Given the description of an element on the screen output the (x, y) to click on. 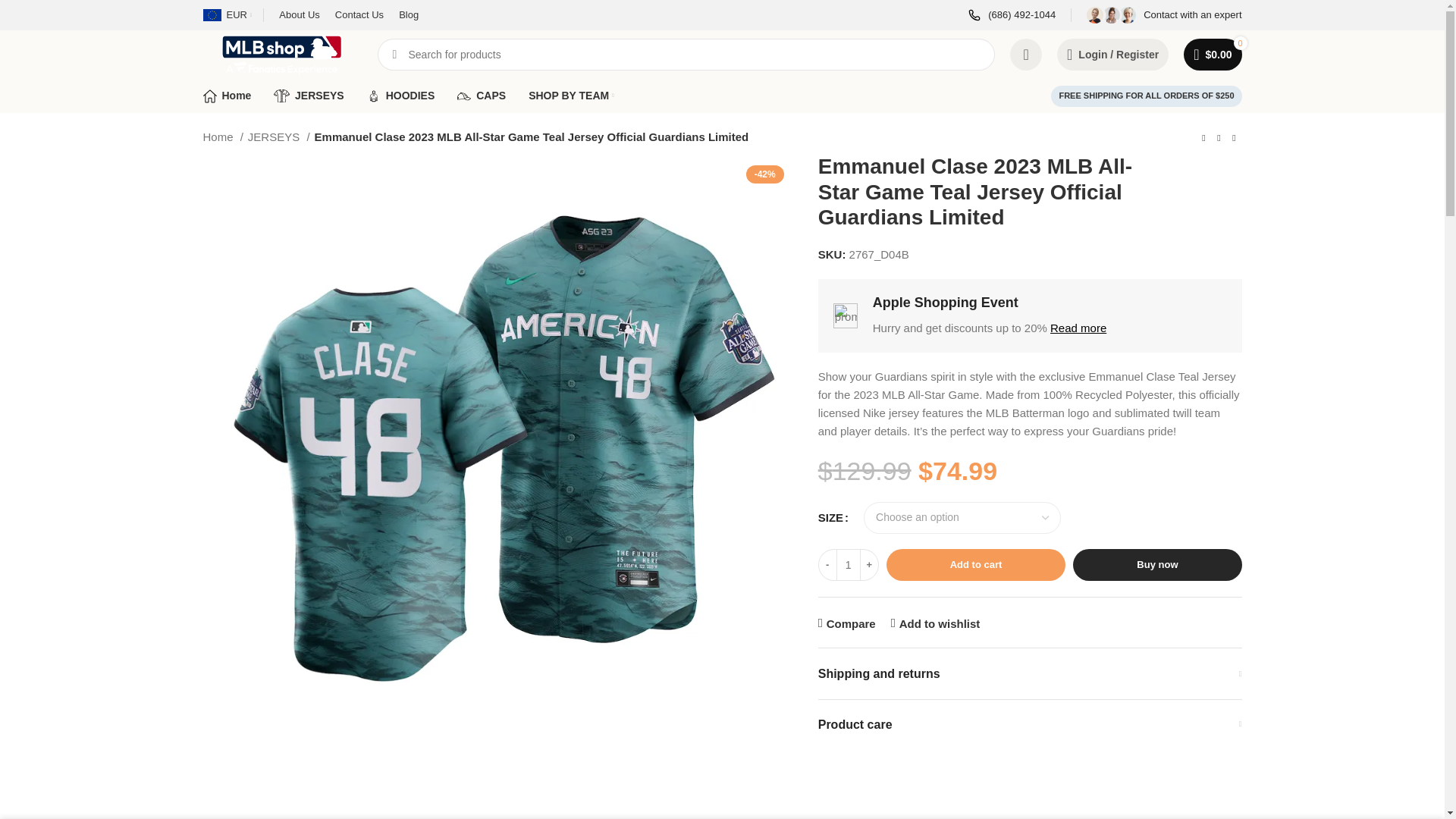
Shopping cart (1212, 54)
Home (227, 95)
HOODIES (400, 95)
JERSEYS (308, 95)
SHOP BY TEAM (571, 95)
baseball-jerseys (281, 96)
Search for products (686, 54)
About Us (298, 15)
wd-furniture-flag-eu (212, 15)
mlb shop (209, 96)
